Given the description of an element on the screen output the (x, y) to click on. 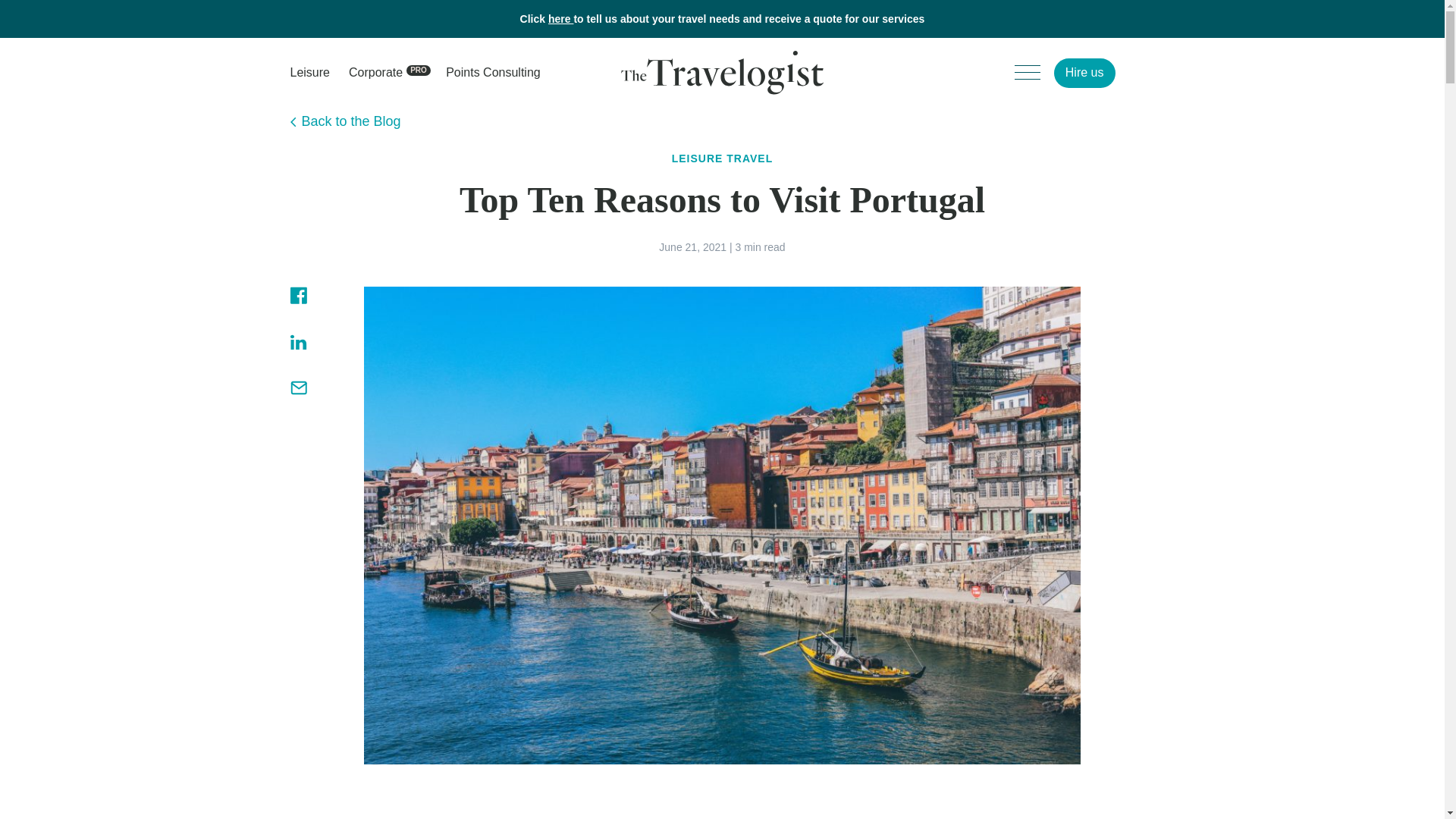
here (560, 19)
Leisure (309, 73)
Share by Email (376, 73)
Points Consulting (297, 386)
Back to the Blog (492, 73)
Hire us (344, 121)
